Given the description of an element on the screen output the (x, y) to click on. 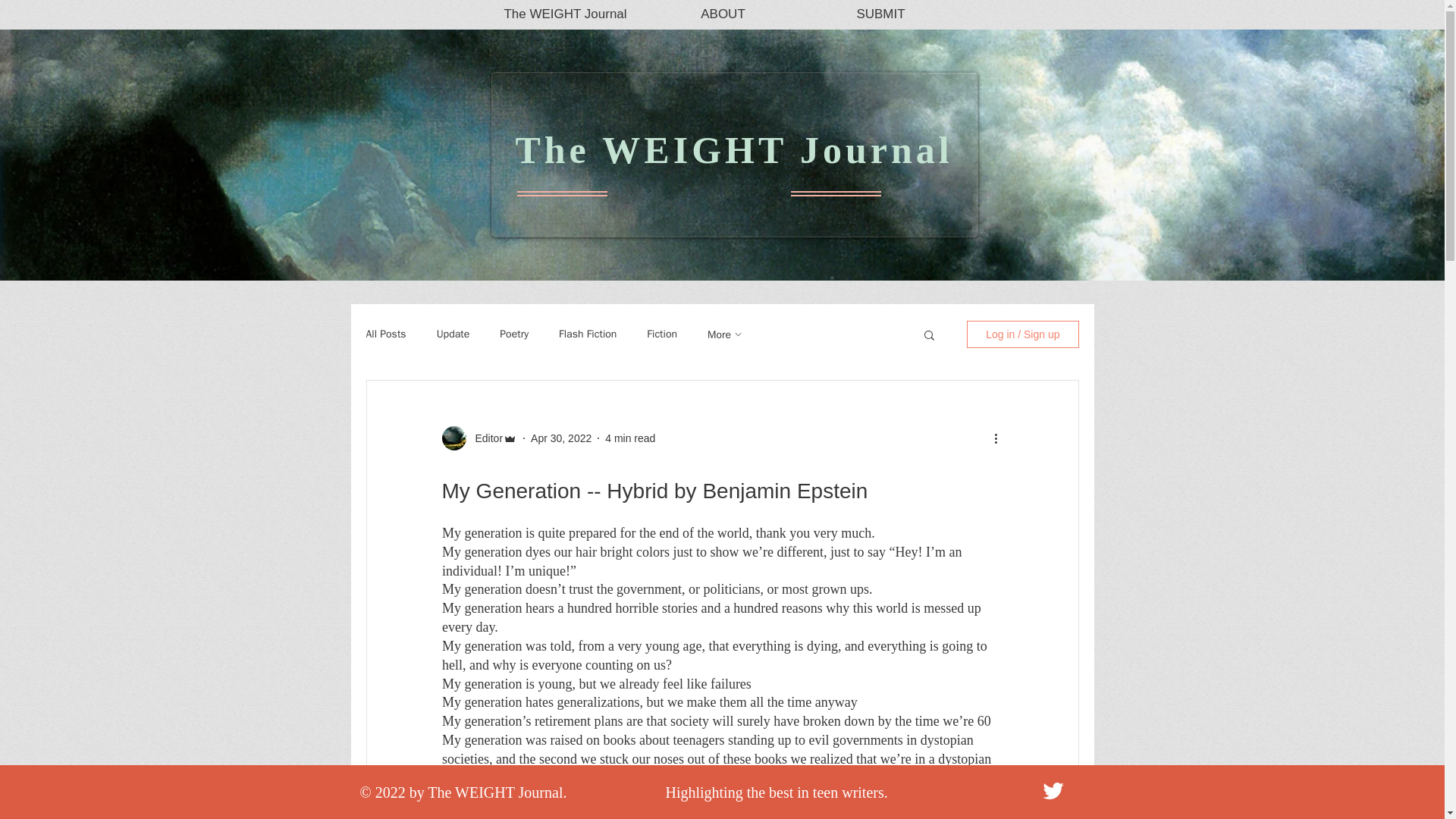
SUBMIT (880, 14)
ABOUT (723, 14)
Flash Fiction (587, 334)
4 min read (630, 438)
The WEIGHT Journal (565, 14)
Poetry (513, 334)
Editor (483, 438)
Update (453, 334)
Fiction (661, 334)
All Posts (385, 334)
Apr 30, 2022 (561, 438)
The WEIGHT Journal (733, 149)
